Given the description of an element on the screen output the (x, y) to click on. 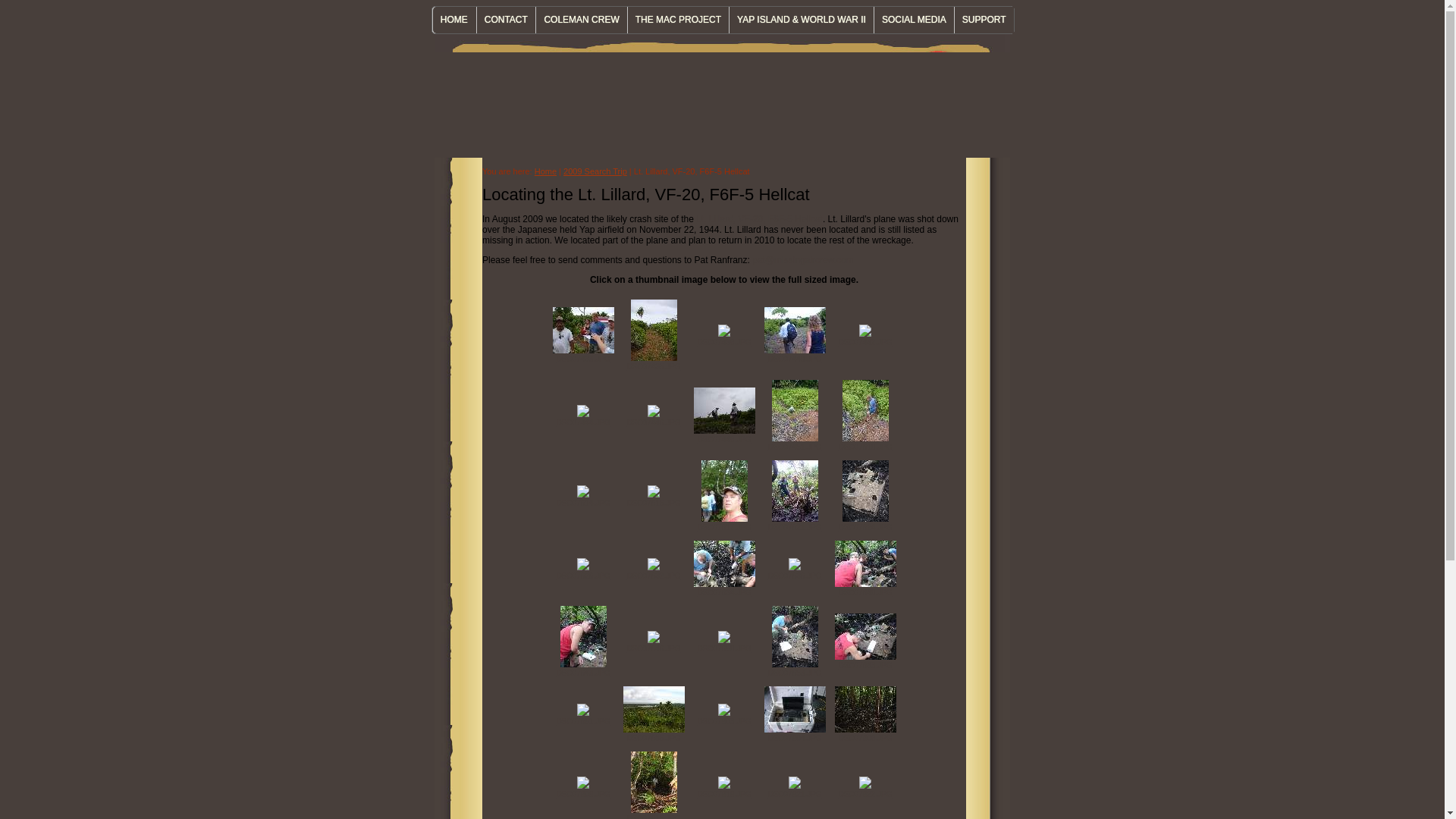
SOCIAL MEDIA (913, 19)
Lt. Lillard, VF-20, F6F-5 Hellcat (758, 218)
SUPPORT (983, 19)
CONTACT (505, 19)
Home (545, 171)
HOME (454, 19)
COLEMAN CREW (580, 19)
2009 Search Trip (595, 171)
THE MAC PROJECT (678, 19)
